Given the description of an element on the screen output the (x, y) to click on. 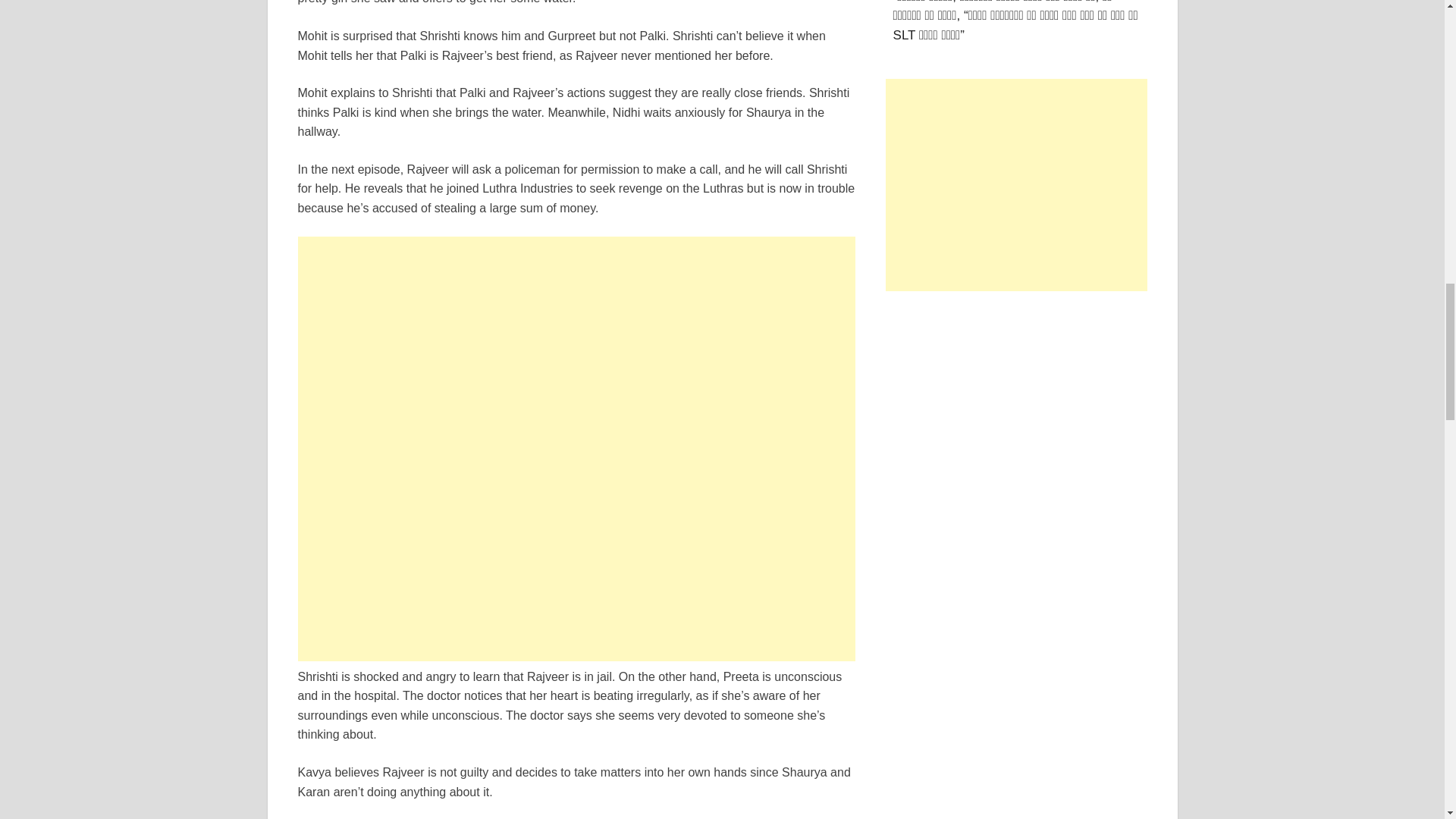
Advertisement (1016, 184)
Advertisement (575, 342)
Advertisement (575, 554)
